Given the description of an element on the screen output the (x, y) to click on. 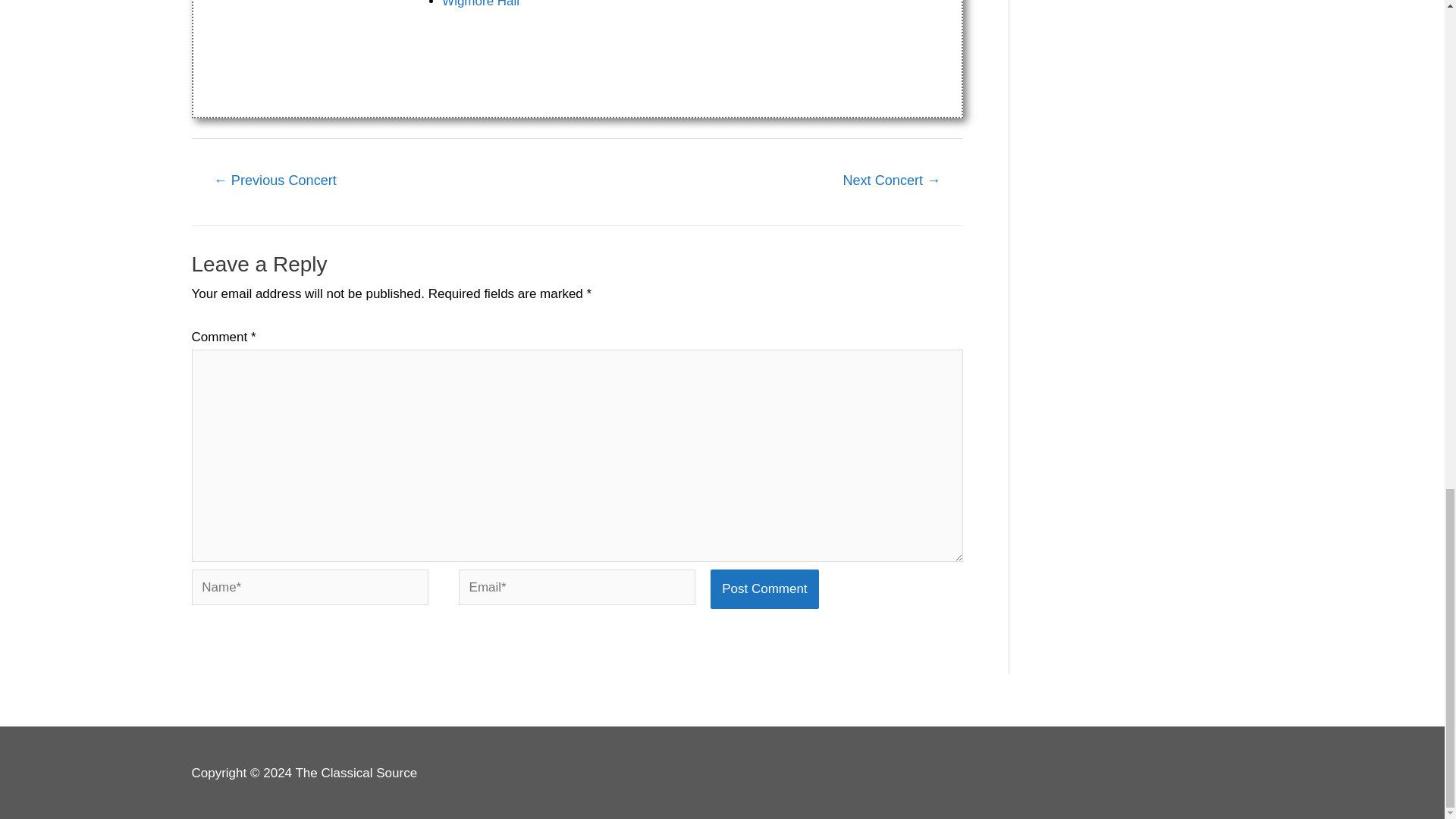
Post Comment (764, 589)
ATOS Trio at Tishman Auditorium New York (274, 182)
Post Comment (764, 589)
Wigmore Hall (480, 4)
